Given the description of an element on the screen output the (x, y) to click on. 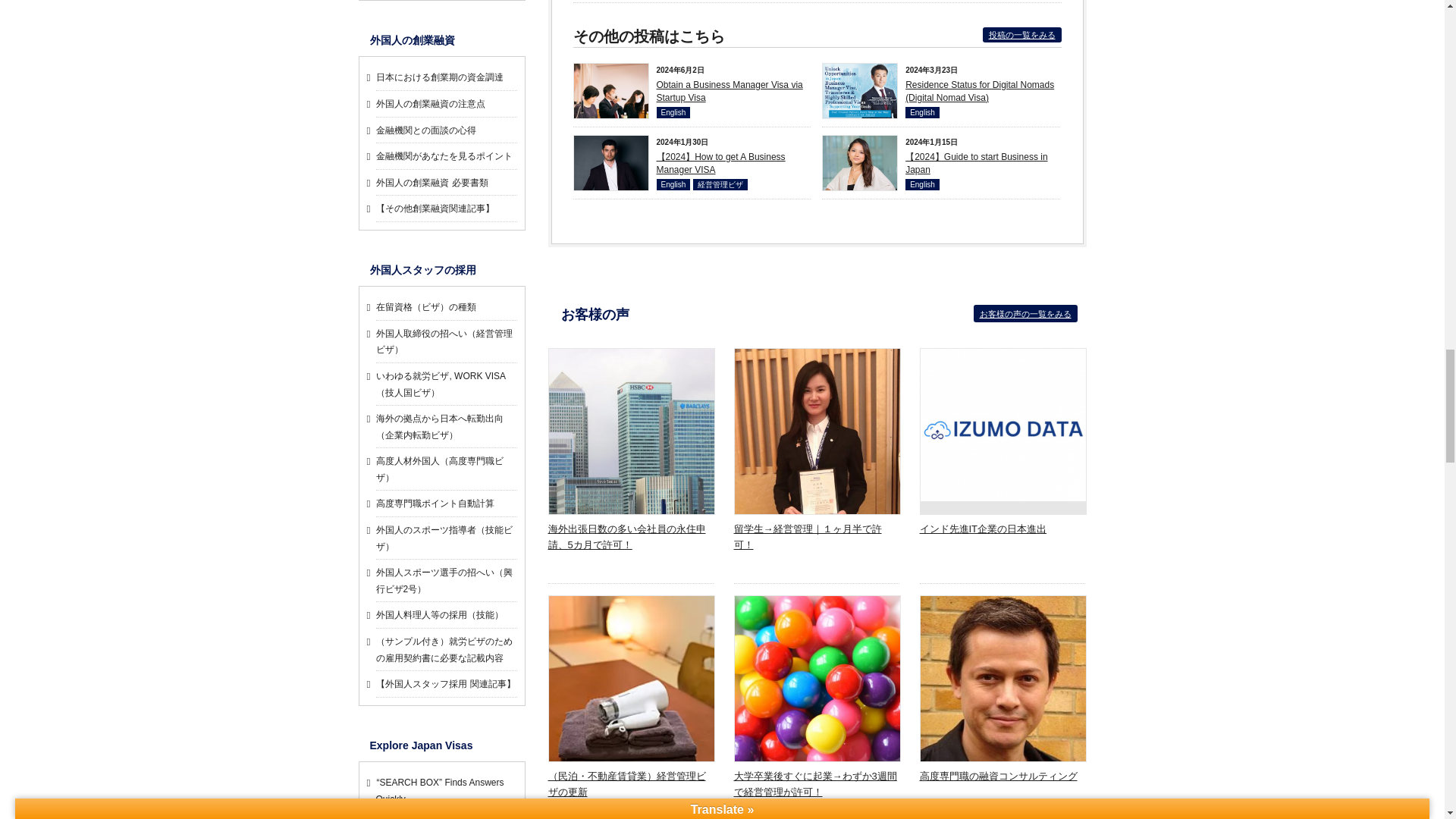
English (922, 184)
English (673, 112)
Obtain a Business Manager Visa via Startup Visa (610, 133)
Show older posts (1021, 34)
Obtain a Business Manager Visa via Startup Visa (729, 91)
Obtain a Business Manager Visa via Startup Visa (729, 91)
English (922, 112)
English (673, 184)
